Given the description of an element on the screen output the (x, y) to click on. 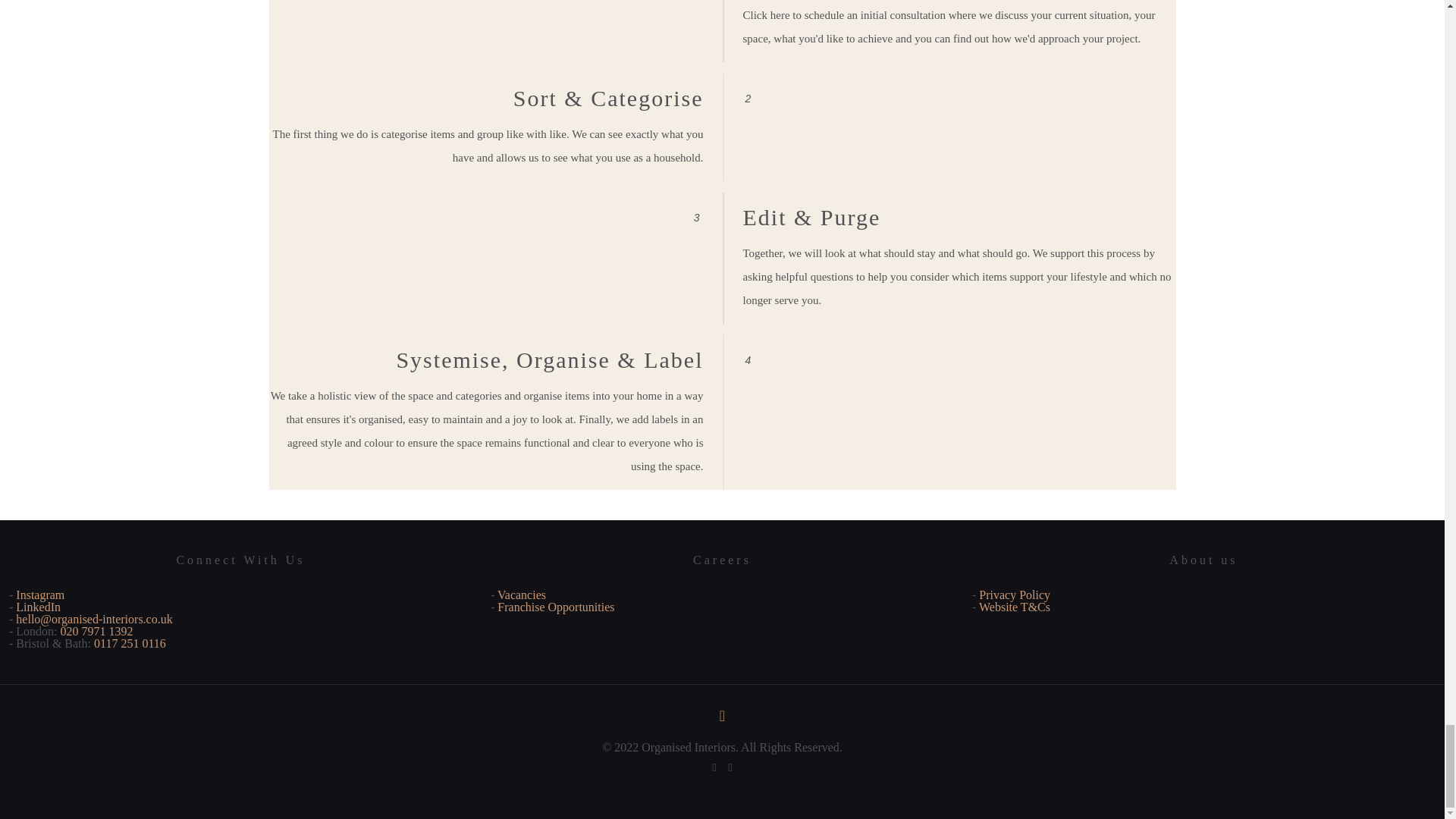
Instagram (730, 767)
020 7971 1392 (97, 631)
Vacancies (521, 594)
LinkedIn (38, 606)
Instagram (40, 594)
LinkedIn (713, 767)
Franchise Opportunities (555, 606)
0117 251 0116 (127, 643)
Privacy Policy (1013, 594)
